Given the description of an element on the screen output the (x, y) to click on. 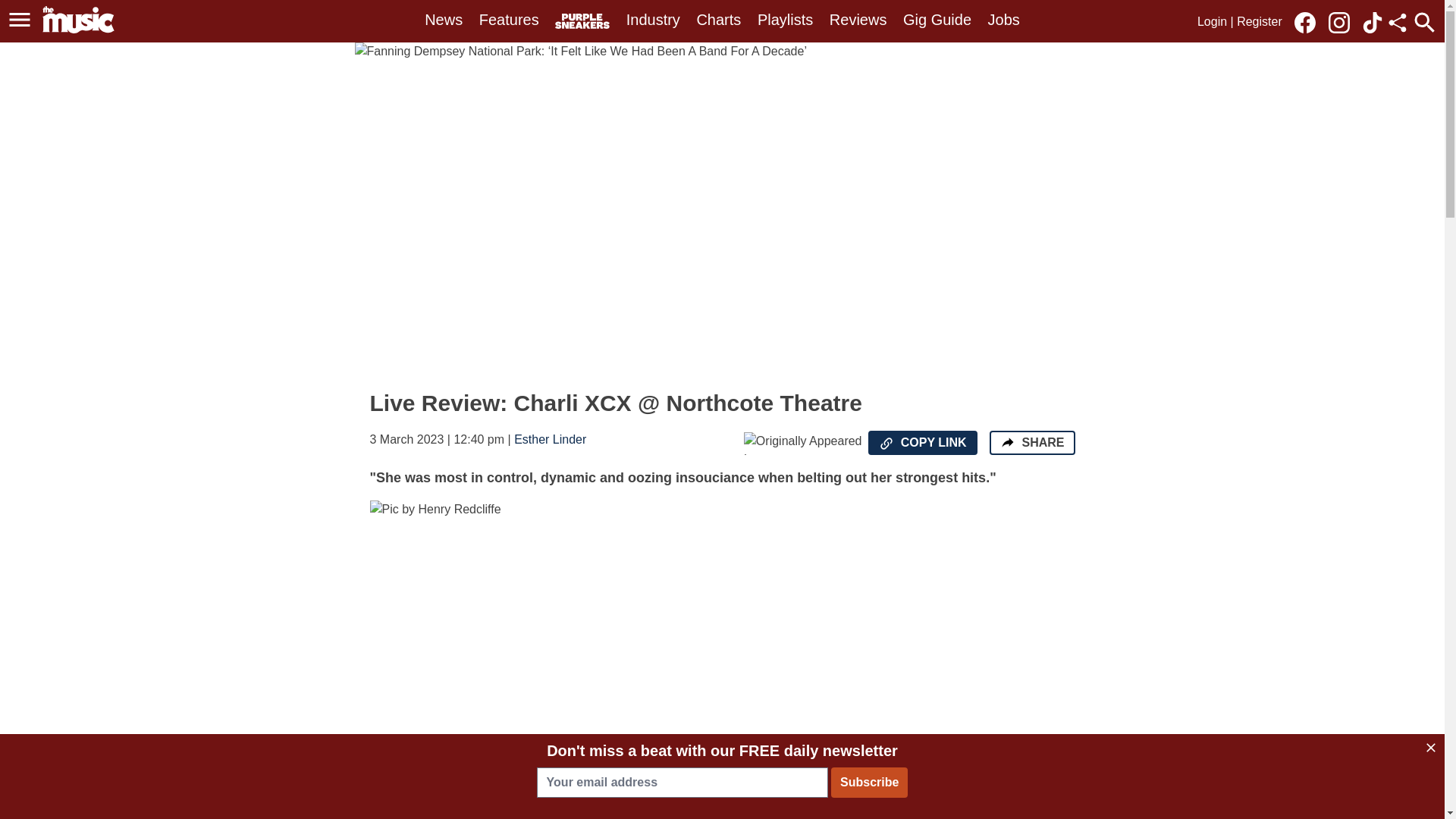
Link to our Facebook (1309, 21)
Reviews (857, 19)
Link to our Facebook (1305, 22)
Link to our TikTok (1372, 21)
Login (1211, 21)
Copy the page URL COPY LINK (921, 442)
Playlists (784, 19)
Link to our TikTok (1372, 22)
Open the site search menu (1424, 22)
Jobs (1004, 19)
Gig Guide (936, 19)
Charts (718, 19)
Copy the page URL (886, 443)
Features (508, 19)
Share this page (1397, 22)
